Given the description of an element on the screen output the (x, y) to click on. 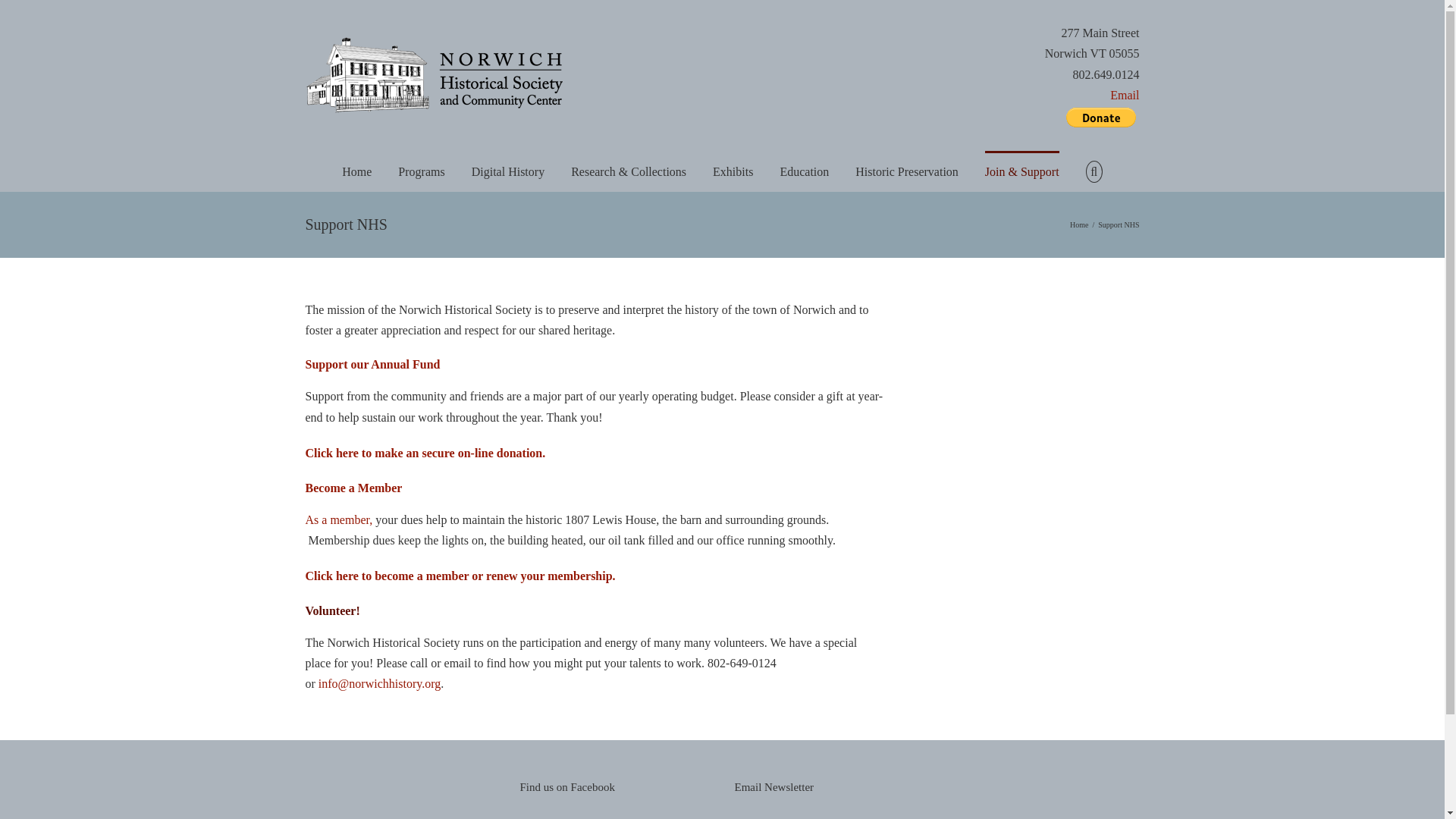
Education (803, 170)
Programs (420, 170)
PayPal - The safer, easier way to pay online! (1100, 117)
Exhibits (732, 170)
Digital History (507, 170)
Email (1092, 95)
